Given the description of an element on the screen output the (x, y) to click on. 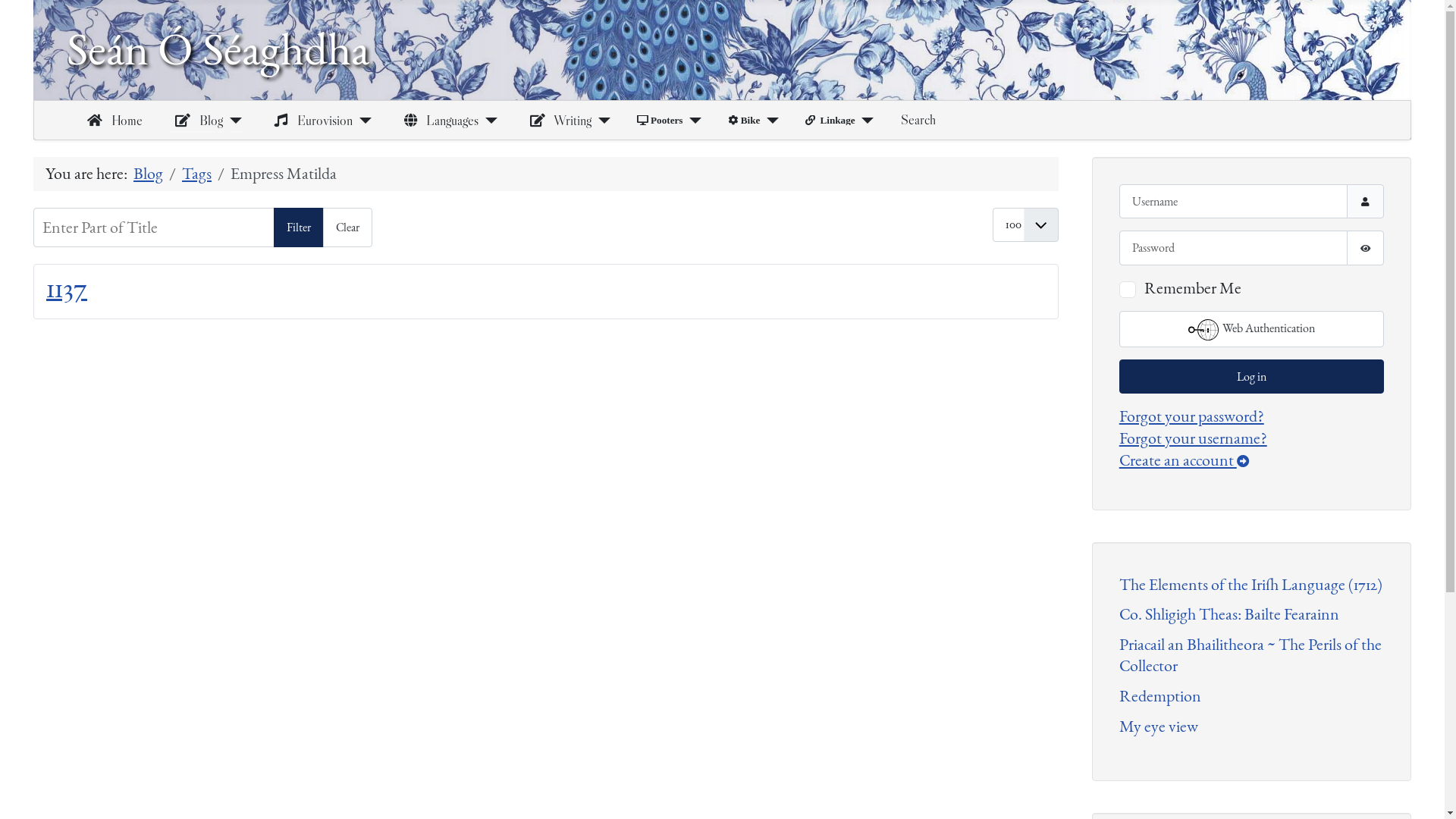
Home Element type: text (111, 120)
Redemption Element type: text (1160, 695)
Linkage Element type: text (829, 120)
Eurovision Element type: text (310, 120)
Co. Shligigh Theas: Bailte Fearainn Element type: text (1229, 613)
Bike Element type: text (743, 120)
Create an account Element type: text (1184, 459)
Clear Element type: text (347, 227)
Log in Element type: text (1251, 376)
Web Authentication Element type: text (1251, 328)
Tags Element type: text (196, 173)
Show Password Element type: text (1364, 247)
Forgot your username? Element type: text (1193, 437)
Blog Element type: text (195, 120)
Priacail an Bhailitheora ~ The Perils of the Collector Element type: text (1250, 655)
Search Element type: text (917, 119)
Writing Element type: text (557, 120)
Blog Element type: text (148, 173)
Pooters Element type: text (660, 120)
Forgot your password? Element type: text (1191, 415)
Username Element type: hover (1364, 201)
My eye view Element type: text (1158, 726)
Languages Element type: text (438, 120)
1137 Element type: text (66, 287)
Filter Element type: text (298, 227)
